Given the description of an element on the screen output the (x, y) to click on. 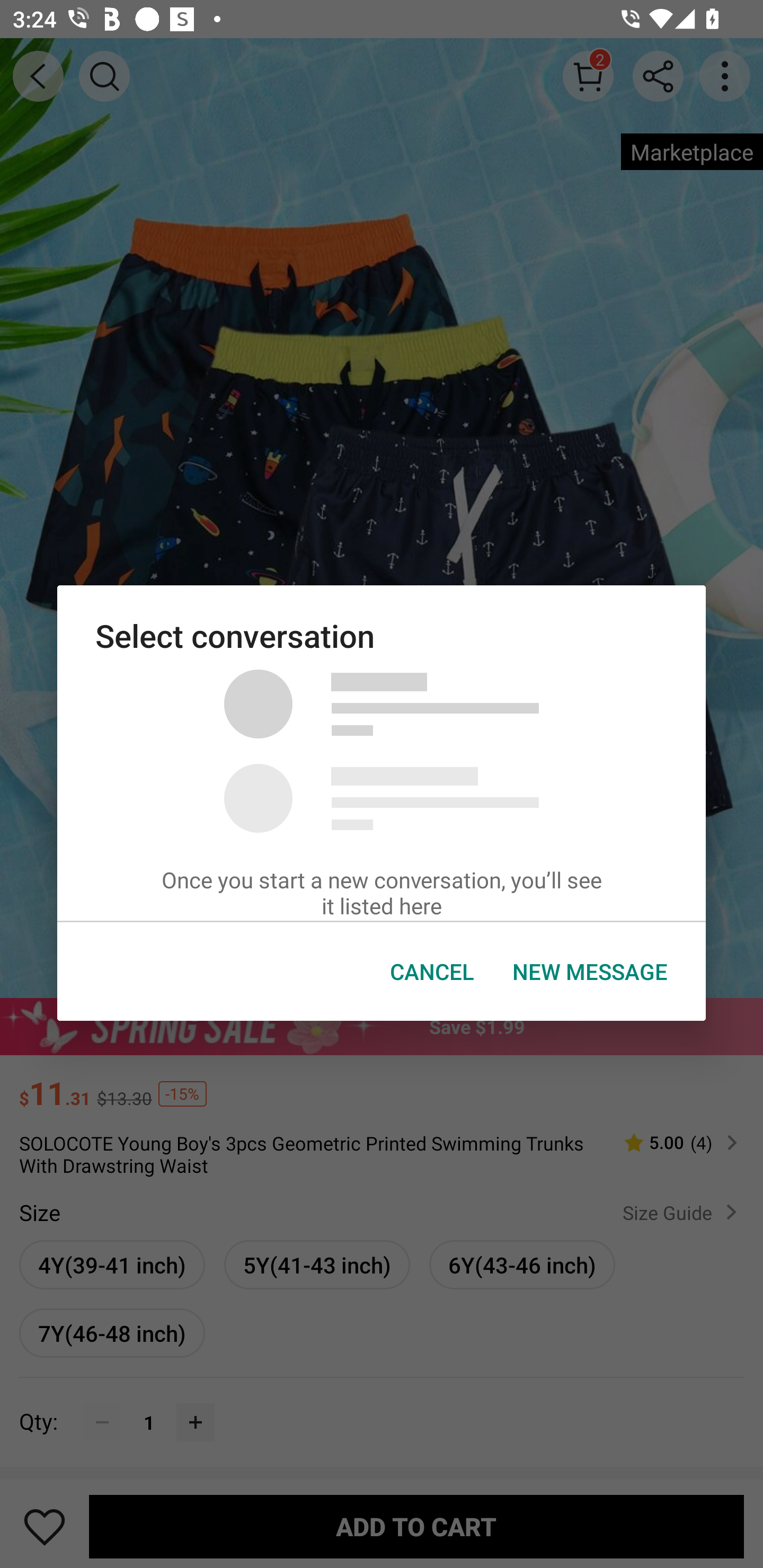
CANCEL (431, 971)
NEW MESSAGE (589, 971)
